Given the description of an element on the screen output the (x, y) to click on. 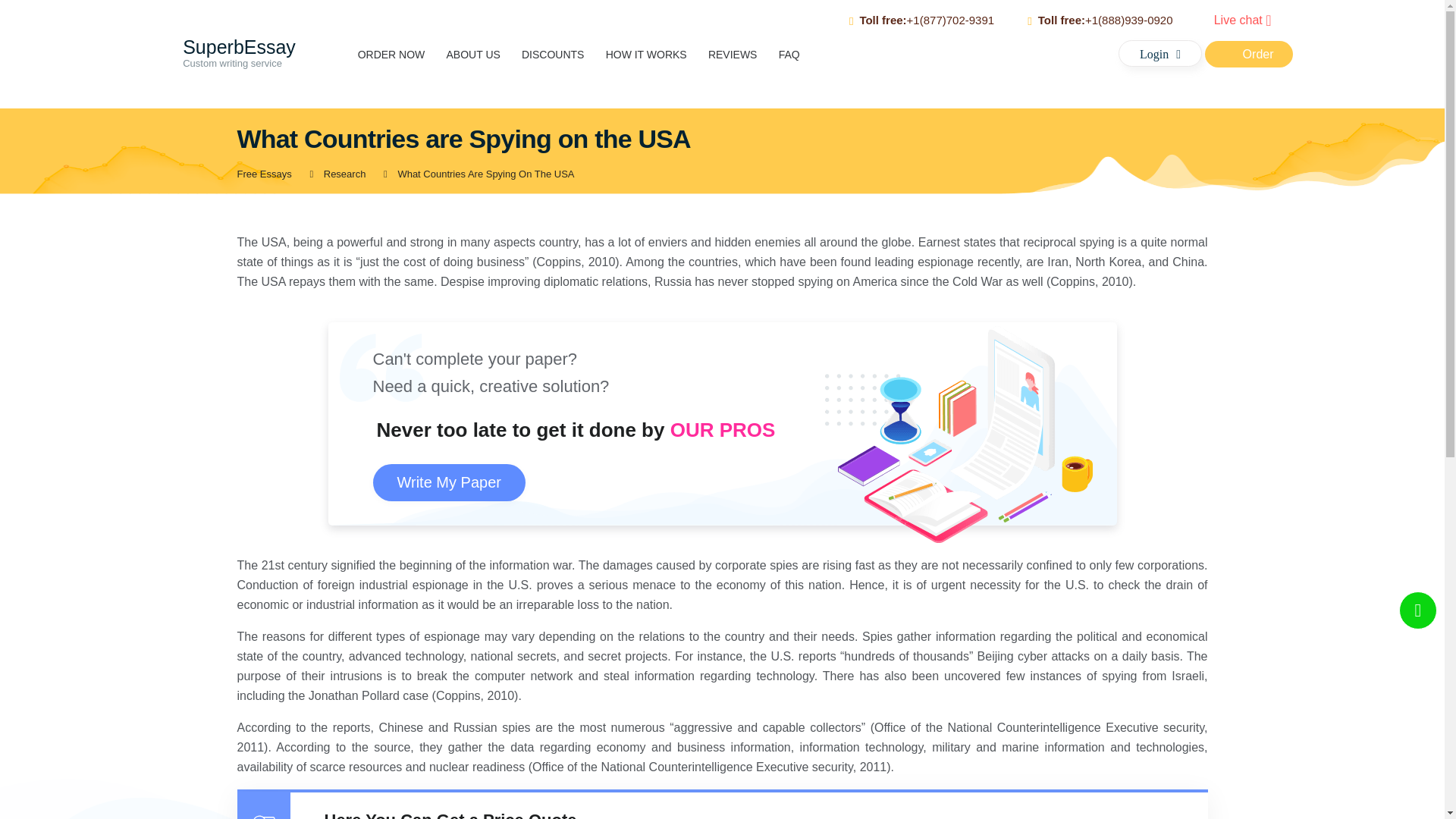
Live chat (1246, 20)
Research (225, 57)
Order (344, 173)
ABOUT US (1248, 53)
Write My Paper (473, 54)
ORDER NOW (448, 482)
Login (391, 54)
DISCOUNTS (1160, 53)
REVIEWS (552, 54)
